Given the description of an element on the screen output the (x, y) to click on. 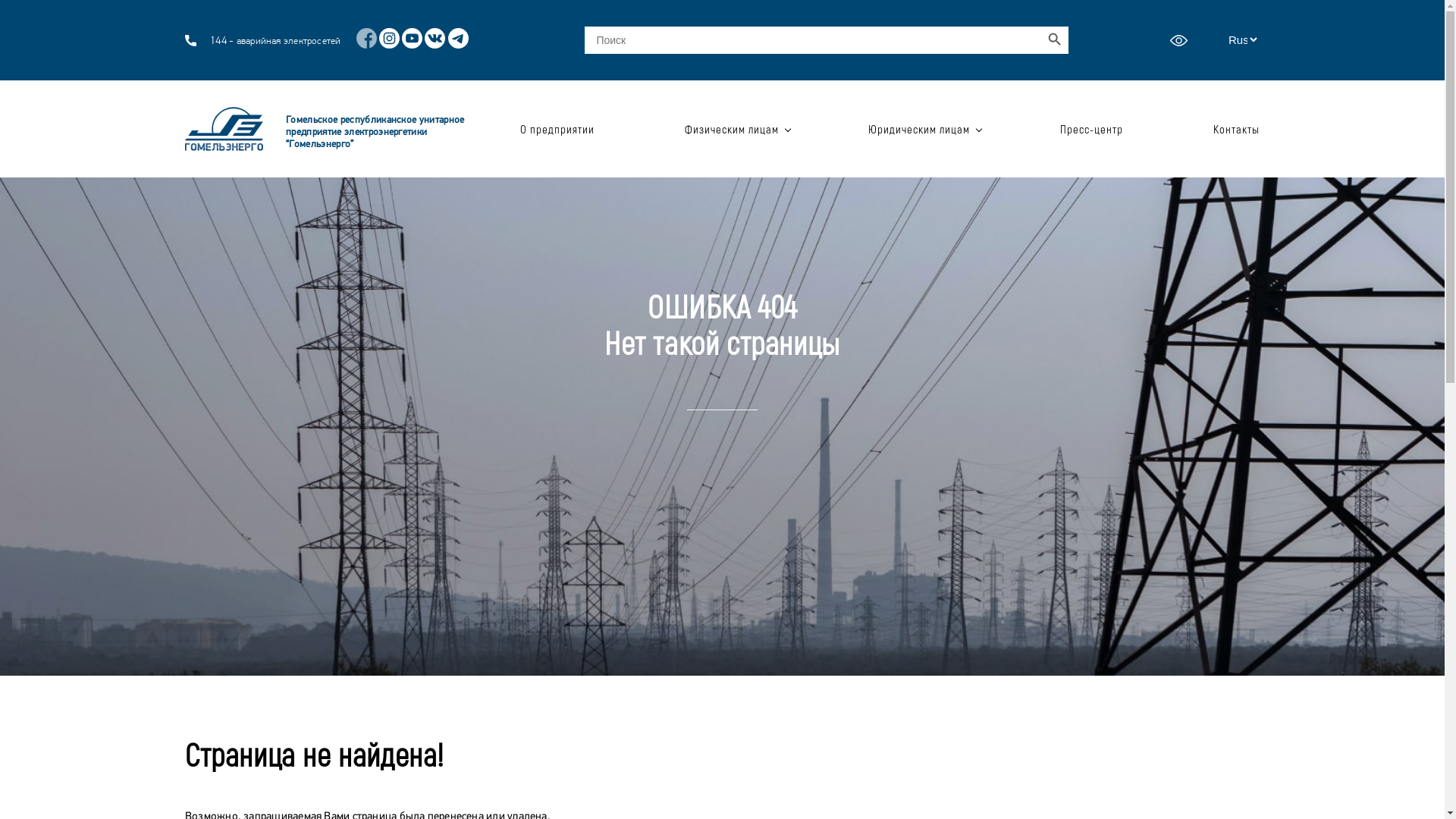
Search Button Element type: text (1054, 39)
  Element type: text (1181, 39)
